Given the description of an element on the screen output the (x, y) to click on. 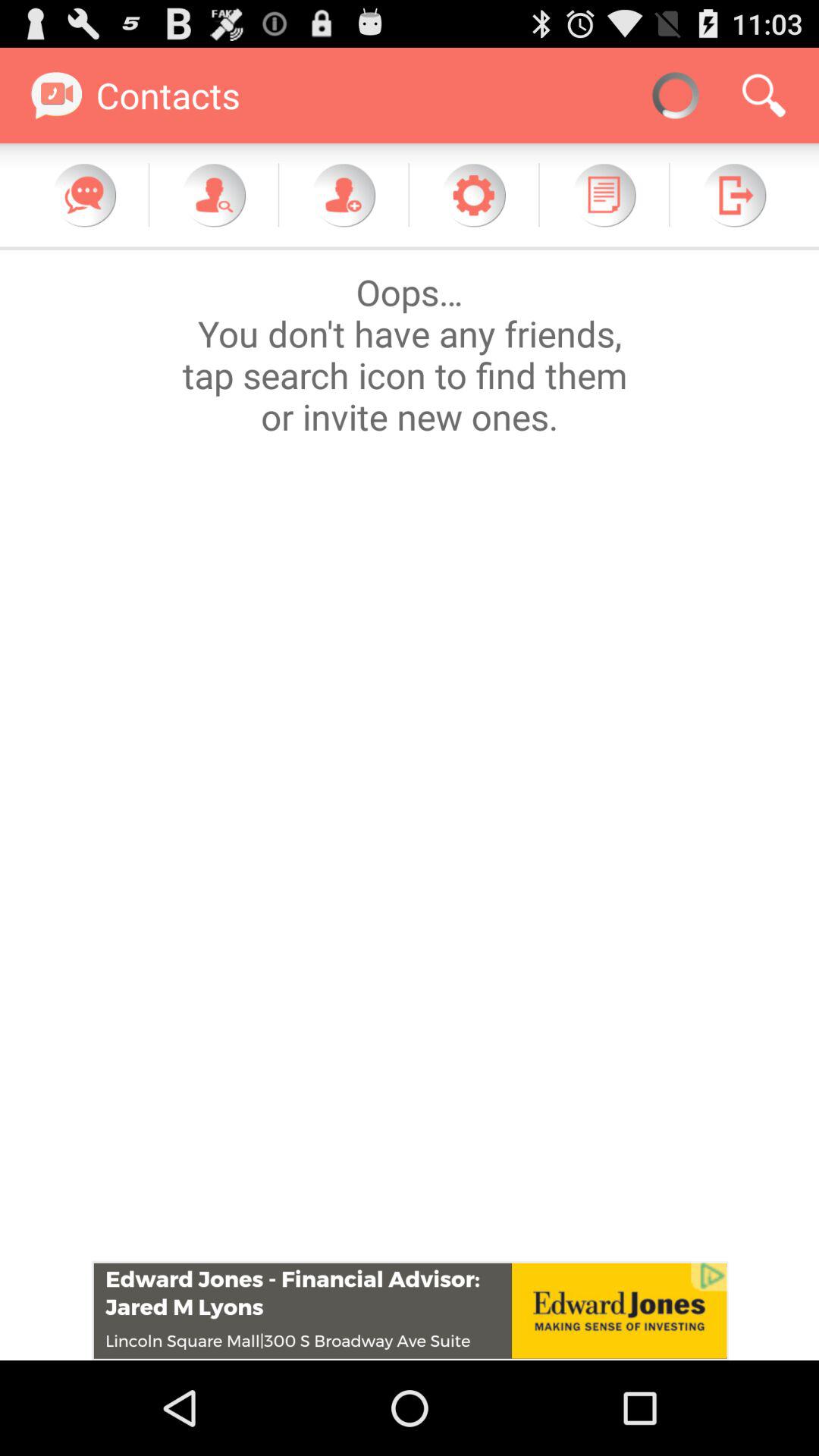
search for contact (213, 194)
